Given the description of an element on the screen output the (x, y) to click on. 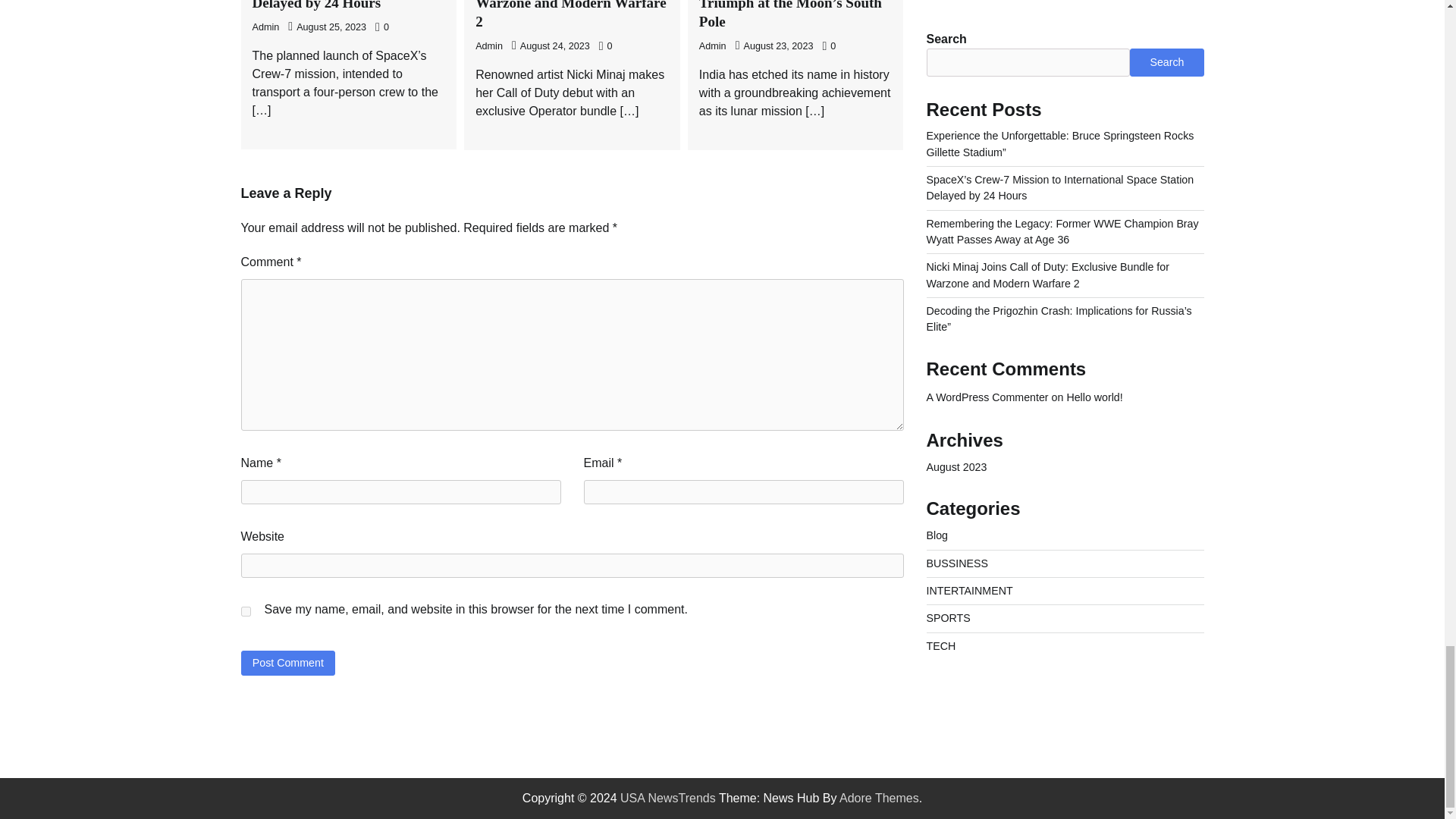
yes (245, 611)
Post Comment (288, 662)
